Given the description of an element on the screen output the (x, y) to click on. 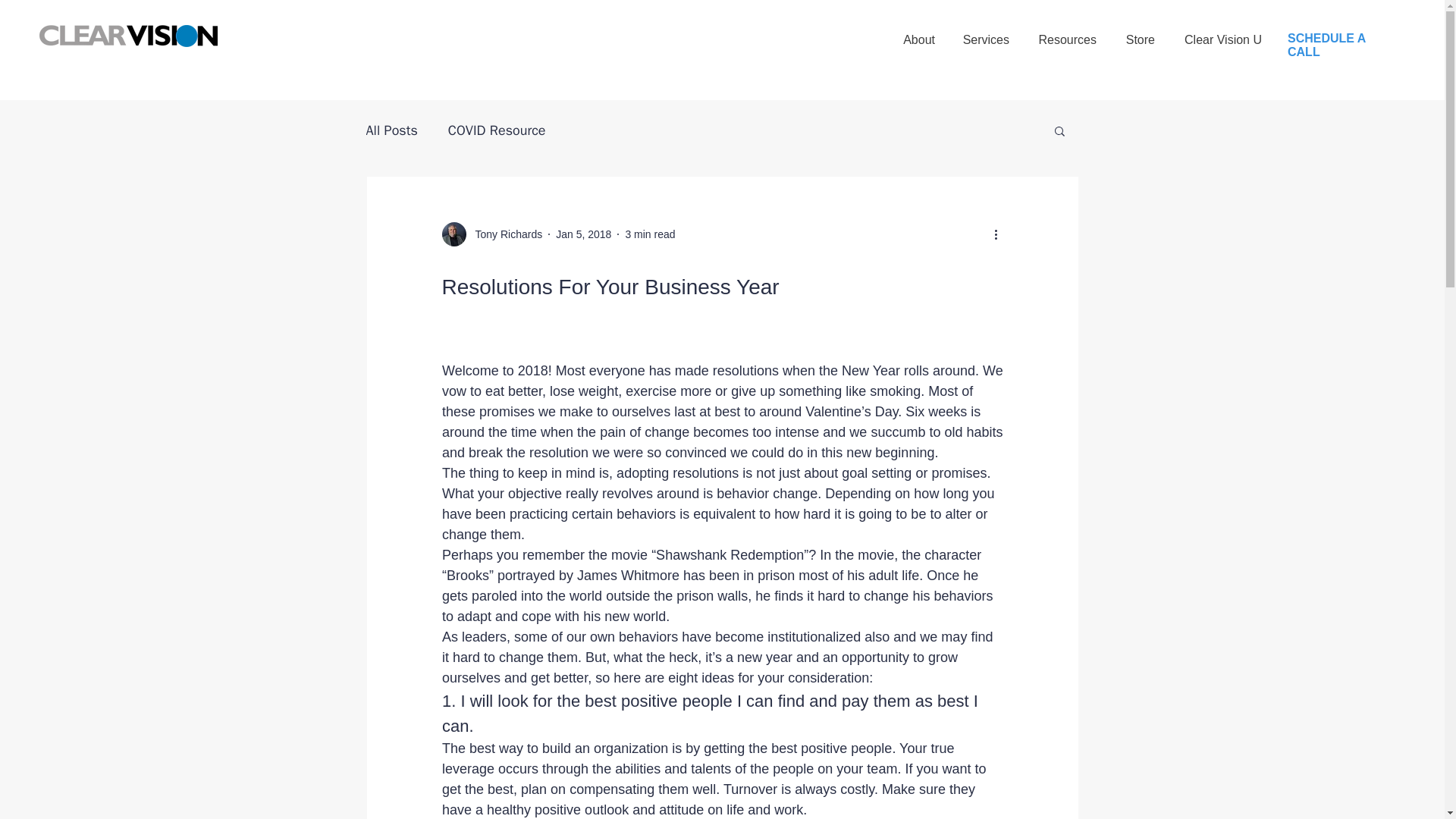
Jan 5, 2018 (583, 233)
All Posts (390, 130)
Store (1139, 32)
Tony Richards (503, 233)
3 min read (649, 233)
SCHEDULE A CALL (1326, 44)
Resources (1066, 32)
About (917, 32)
COVID Resource (497, 130)
Services (986, 32)
Clear Vision U (1222, 32)
